Given the description of an element on the screen output the (x, y) to click on. 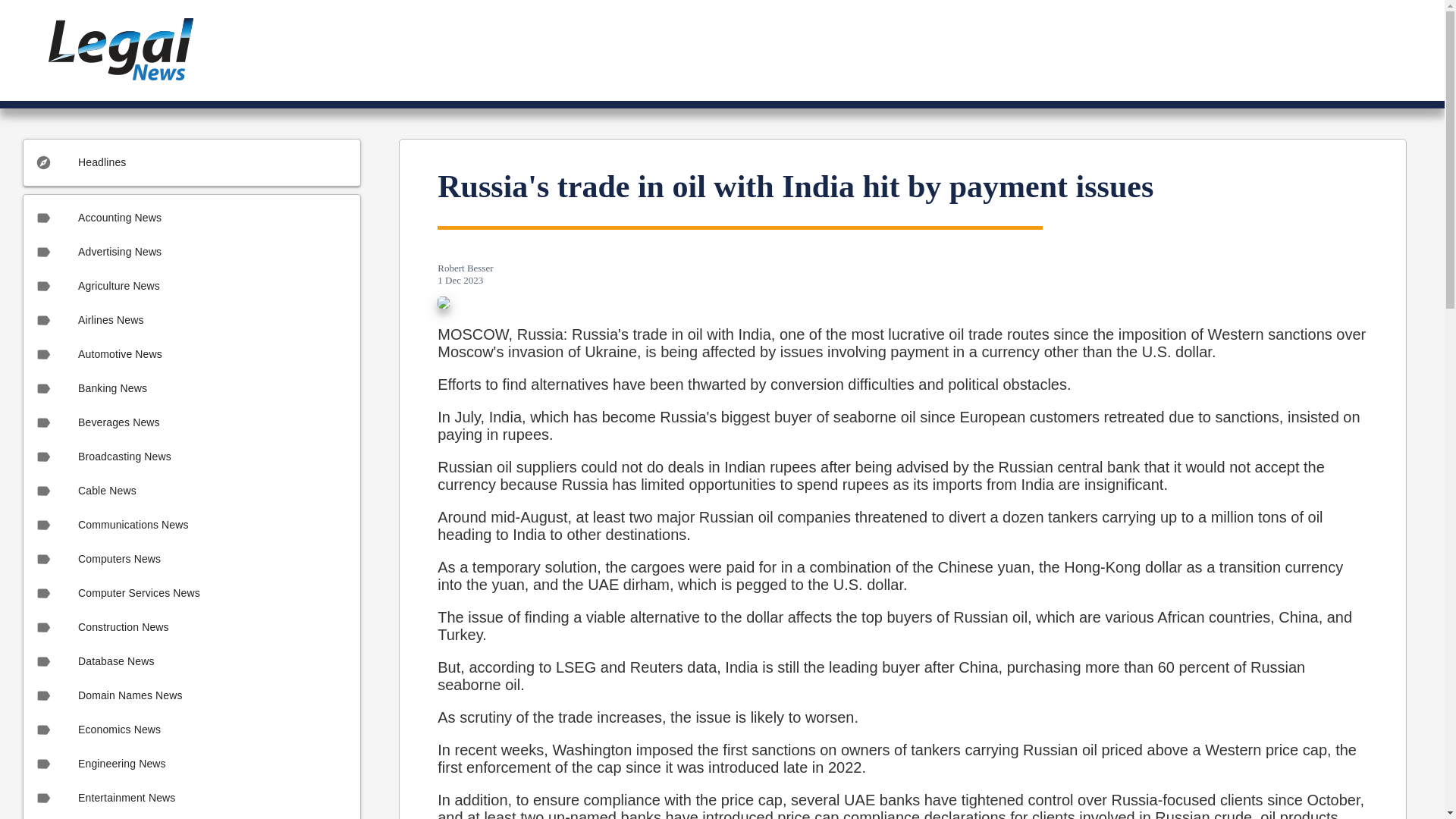
Economics News (191, 729)
Automotive News (191, 354)
Advertising News (191, 252)
Accounting News (191, 217)
Cable News (191, 490)
Engineering News (191, 763)
Airlines News (191, 320)
Computers News (191, 559)
Environment News (191, 816)
Entertainment News (191, 797)
